Given the description of an element on the screen output the (x, y) to click on. 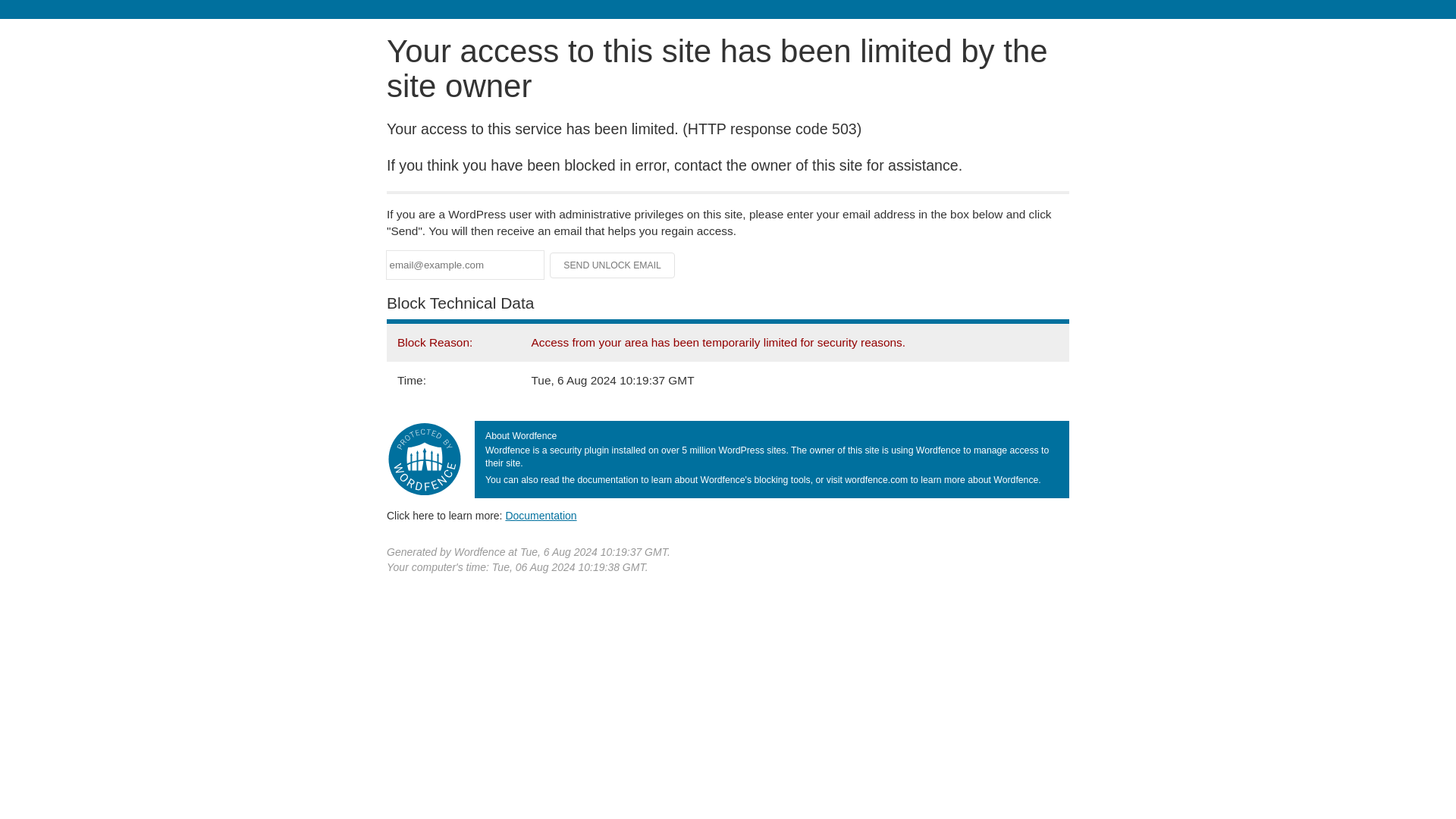
Send Unlock Email (612, 265)
Send Unlock Email (612, 265)
Documentation (540, 515)
